Given the description of an element on the screen output the (x, y) to click on. 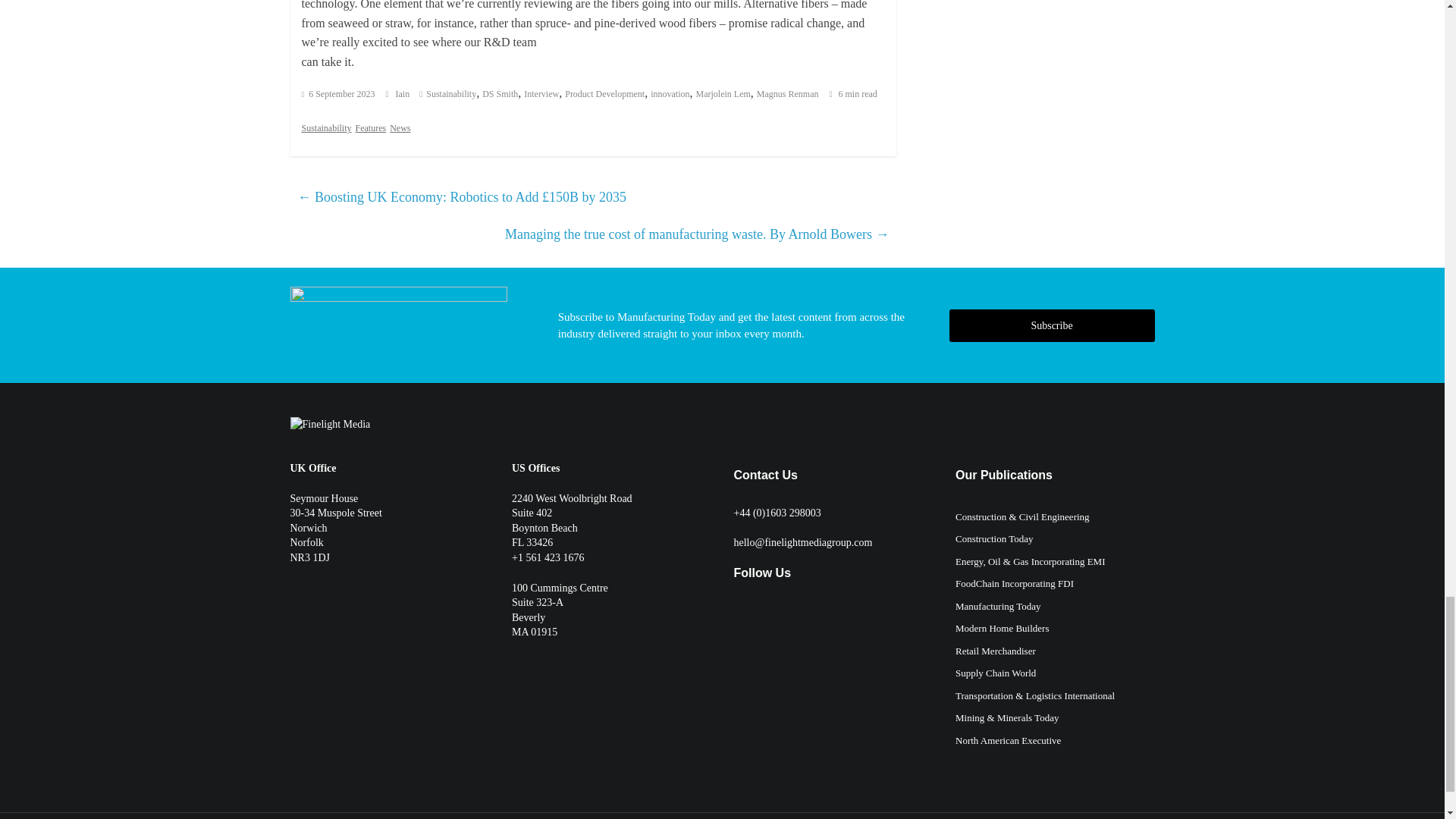
Iain (404, 93)
Iain (404, 93)
Interview (541, 93)
News (400, 128)
3:40 pm (338, 93)
Sustainability (451, 93)
Features (370, 128)
innovation (669, 93)
Marjolein Lem (723, 93)
Magnus Renman (787, 93)
6 September 2023 (338, 93)
Sustainability (326, 128)
DS Smith (499, 93)
Product Development (604, 93)
